Given the description of an element on the screen output the (x, y) to click on. 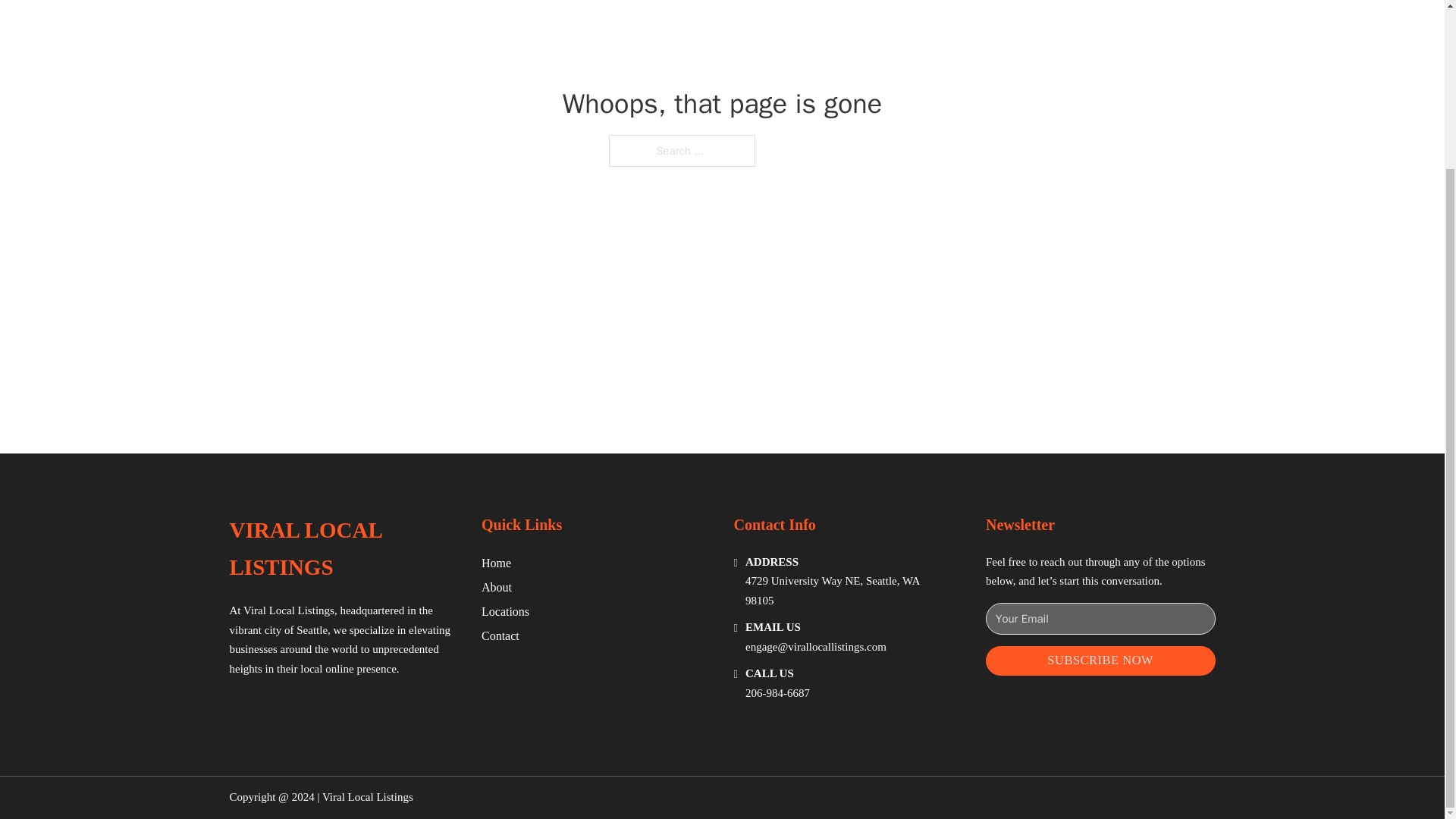
SUBSCRIBE NOW (1100, 660)
206-984-6687 (777, 693)
VIRAL LOCAL LISTINGS (343, 549)
Home (496, 562)
Locations (505, 611)
About (496, 587)
Contact (500, 635)
